Given the description of an element on the screen output the (x, y) to click on. 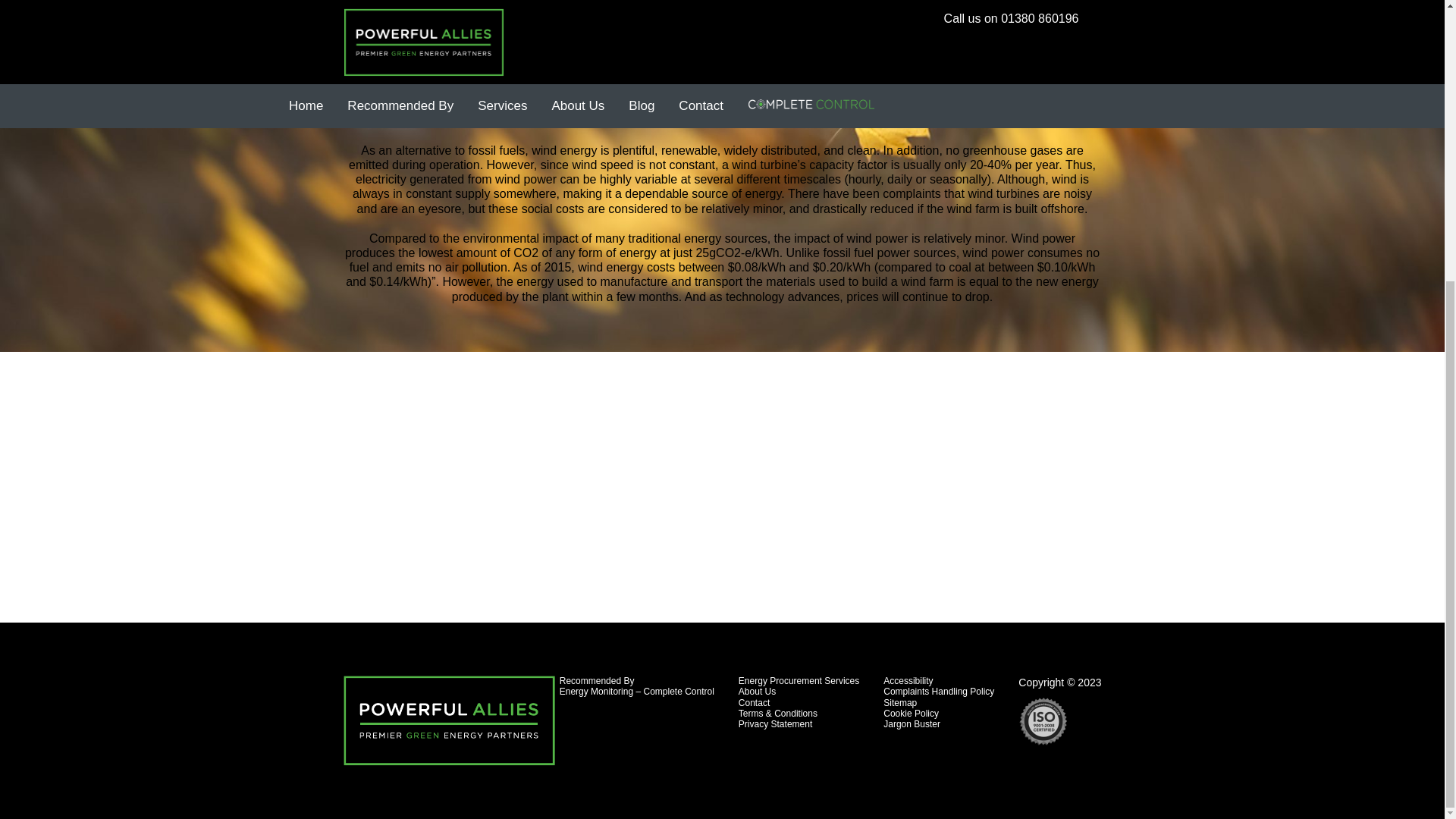
Jargon Buster (911, 724)
Cookie Policy (911, 713)
Privacy Statement (775, 724)
About Us (757, 691)
Energy Procurement Services (798, 680)
Powerful Allies - Powerful Allies (448, 720)
Complaints Handling Policy (938, 691)
Contact (754, 702)
Accessibility (908, 680)
Sitemap (900, 702)
Recommended By (596, 680)
